Given the description of an element on the screen output the (x, y) to click on. 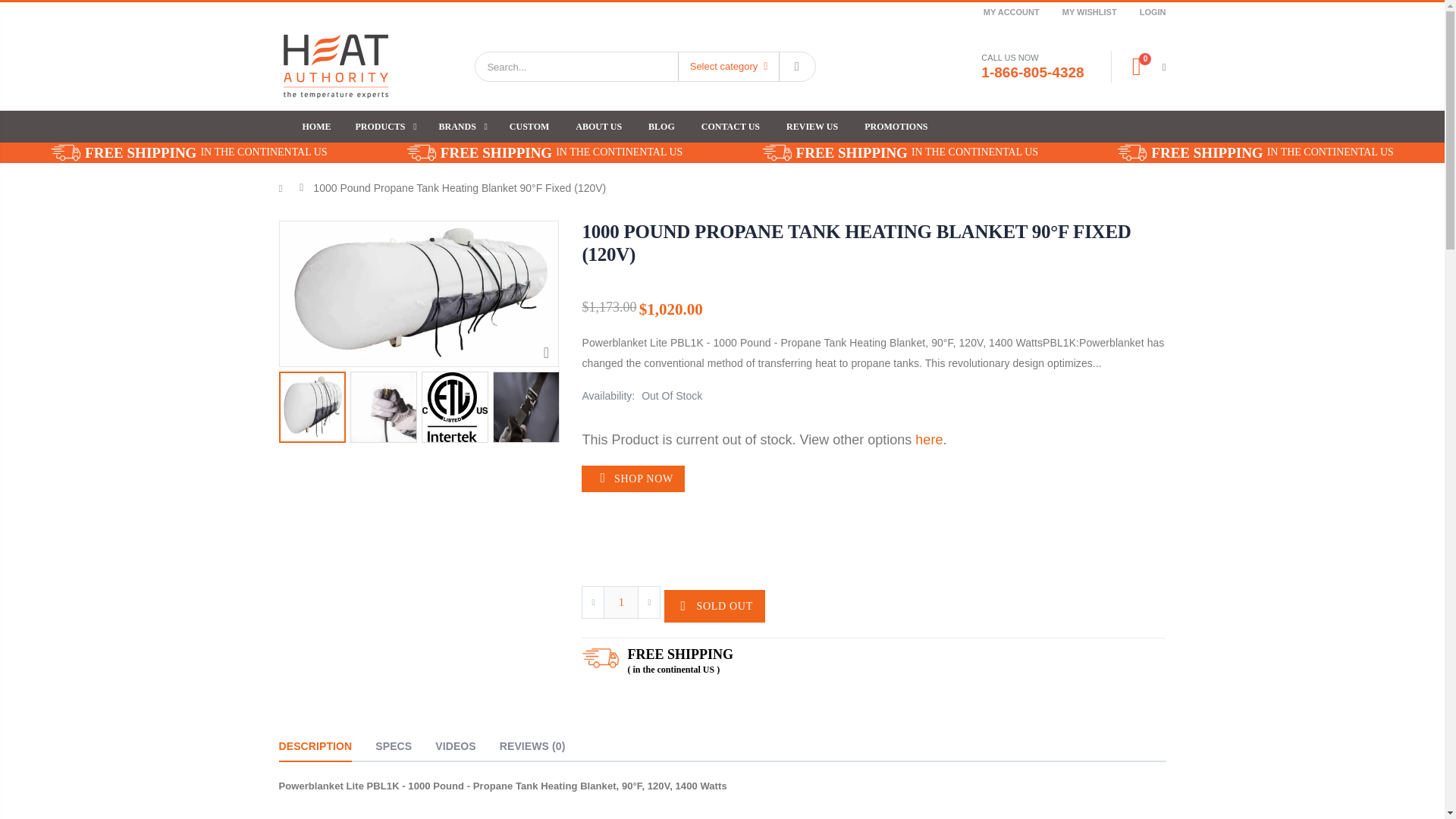
LOGIN (1153, 12)
Back to the frontpage (284, 188)
PRODUCTS (382, 126)
Search (795, 66)
1 (621, 602)
Select category (728, 66)
Select category (729, 66)
0 (1142, 66)
MY WISHLIST (1089, 12)
HOME (315, 126)
1-866-805-4328 (1032, 72)
MY ACCOUNT (1011, 12)
